Given the description of an element on the screen output the (x, y) to click on. 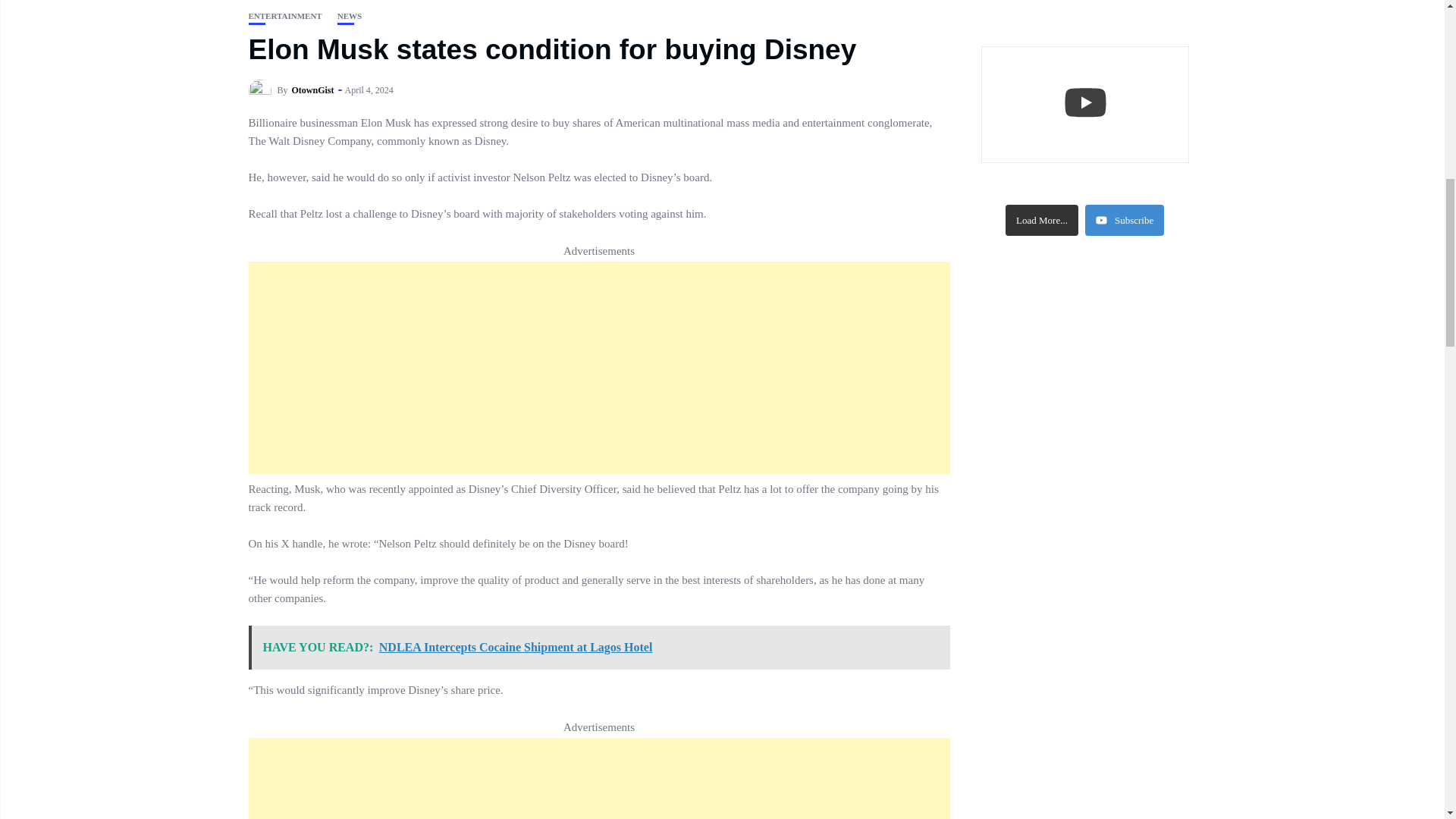
Posts by OtownGist (313, 90)
